Given the description of an element on the screen output the (x, y) to click on. 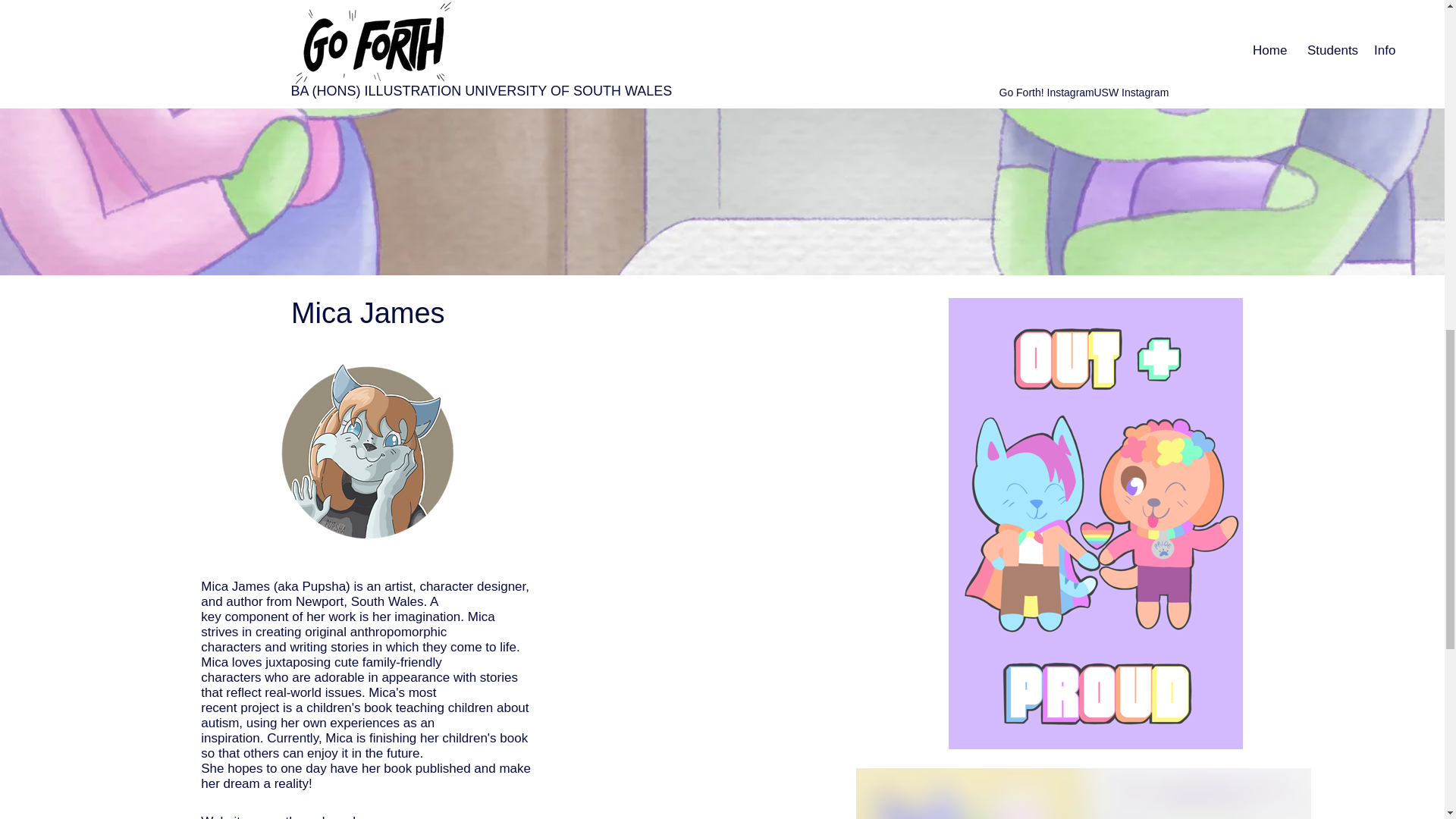
Website: (227, 816)
www.therealpupsha.com (324, 816)
